Given the description of an element on the screen output the (x, y) to click on. 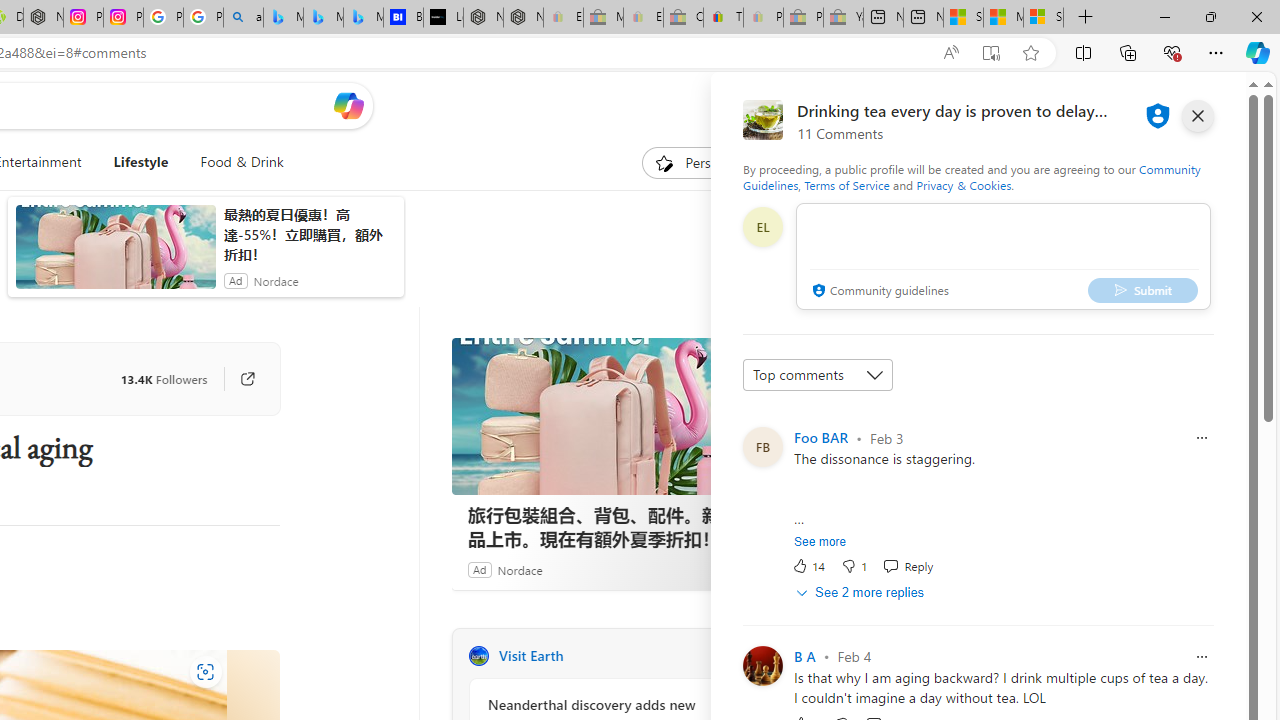
Split screen (1083, 52)
Lifestyle (141, 162)
New tab (923, 17)
alabama high school quarterback dies - Search (243, 17)
Press Room - eBay Inc. - Sleeping (803, 17)
close (1197, 115)
Restore (1210, 16)
Read aloud this page (Ctrl+Shift+U) (950, 53)
Notifications (1176, 105)
Ad Choice (729, 569)
Nordace - Nordace Edin Collection (43, 17)
Go to publisher's site (237, 378)
Minimize (1164, 16)
